Given the description of an element on the screen output the (x, y) to click on. 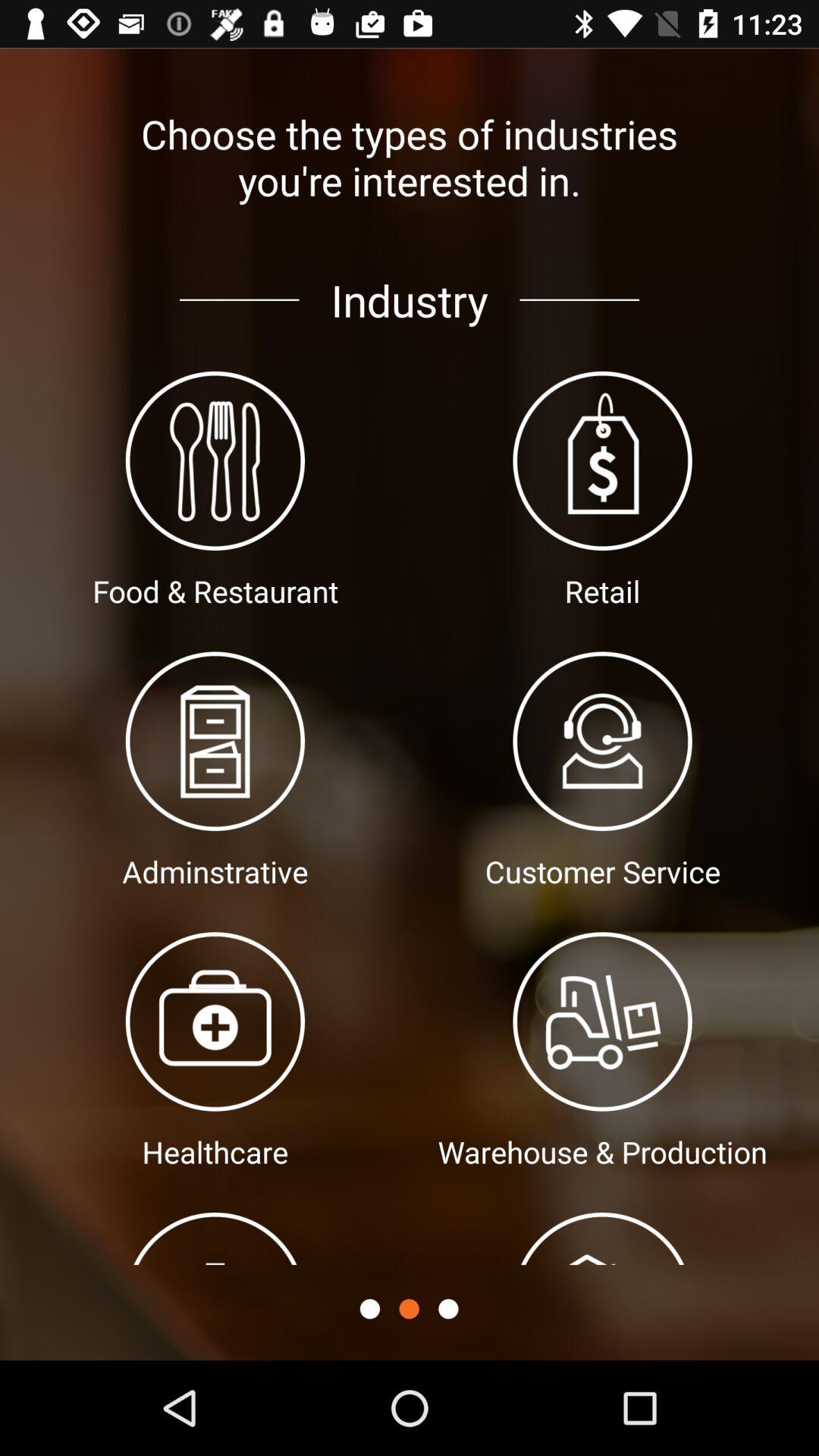
press item below the industry item (409, 1308)
